Given the description of an element on the screen output the (x, y) to click on. 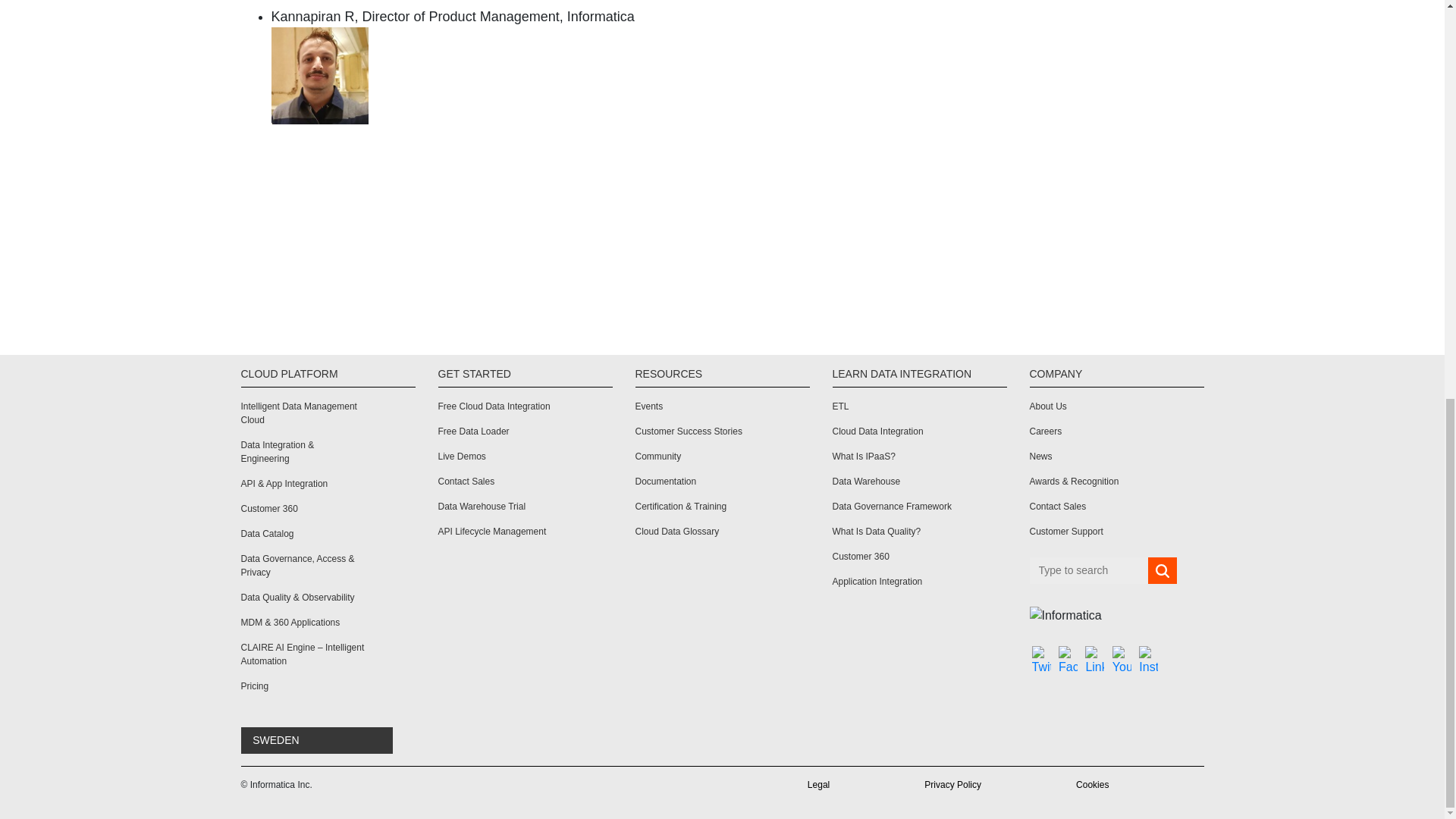
Search (1162, 571)
Insert a query. Press enter to send (1088, 570)
